Given the description of an element on the screen output the (x, y) to click on. 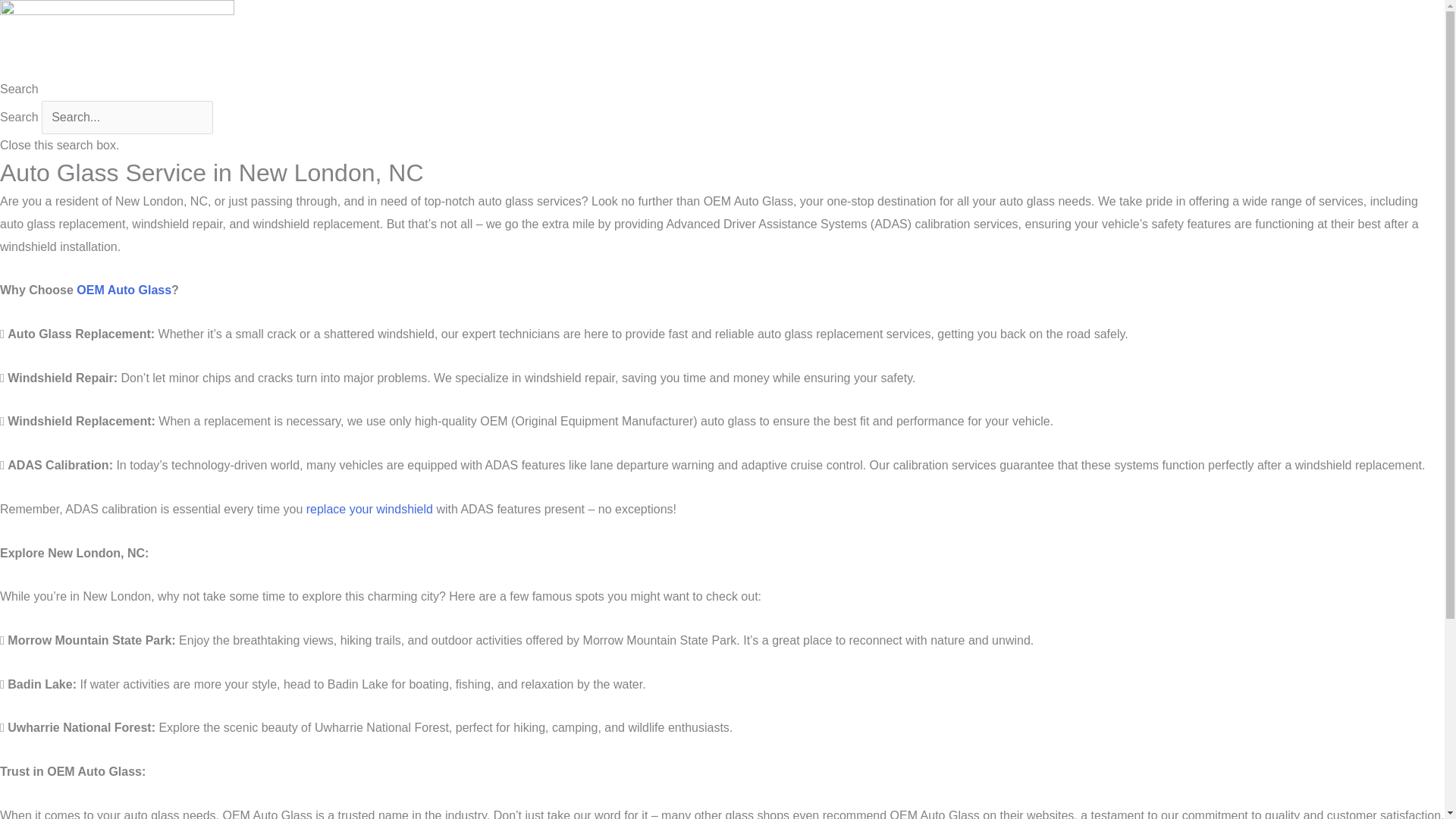
OEM Auto Glass (124, 289)
replace your windshield (368, 508)
Auto Glass Service in New London, NC (117, 38)
